Given the description of an element on the screen output the (x, y) to click on. 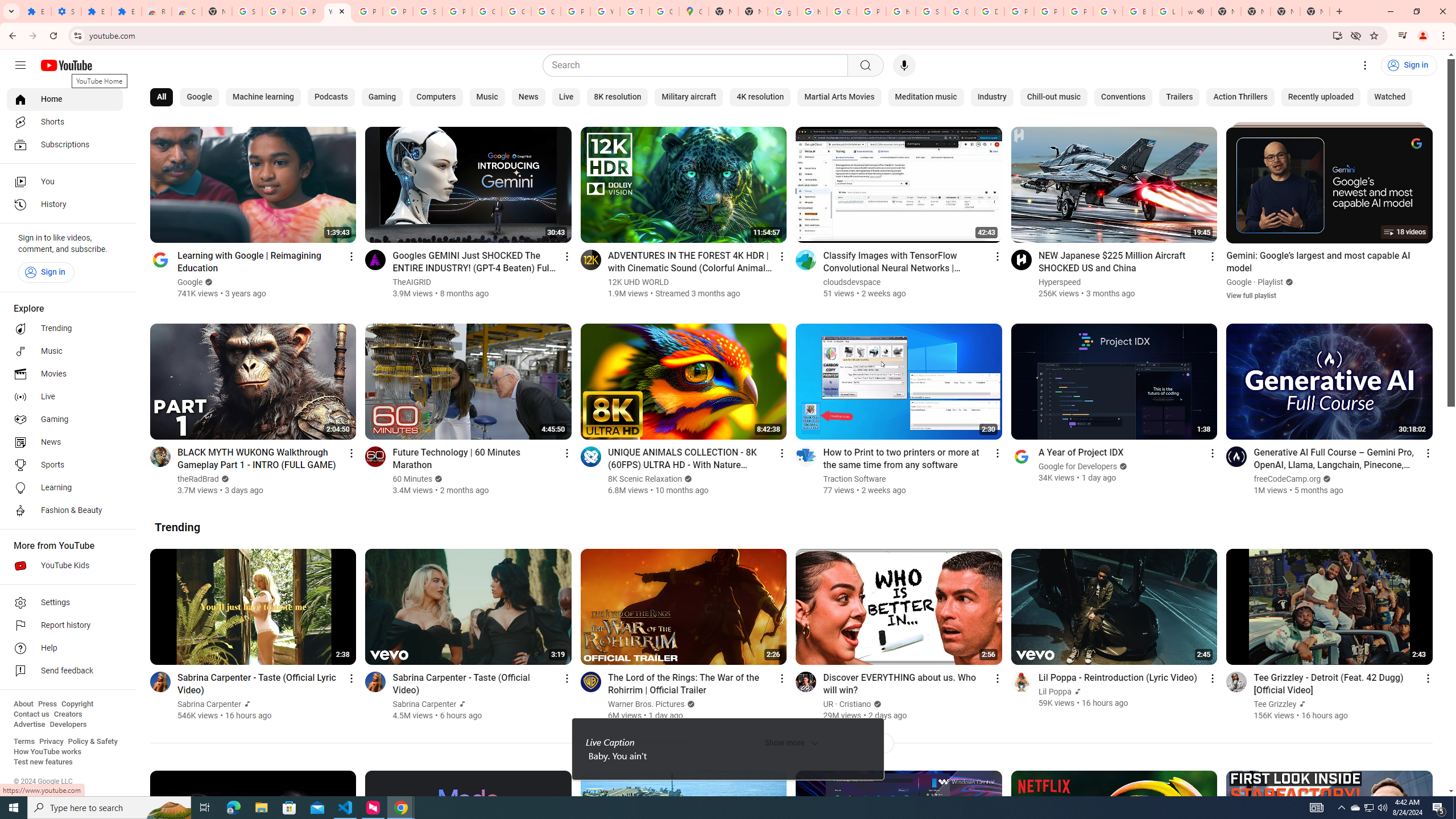
Tee Grizzley (1275, 704)
Recently uploaded (1321, 97)
Privacy (51, 741)
Movies (64, 373)
Reviews: Helix Fruit Jump Arcade Game (156, 11)
Settings (64, 602)
Guide (20, 65)
Shorts (64, 121)
Google Account (486, 11)
freeCodeCamp.org (1287, 478)
